Given the description of an element on the screen output the (x, y) to click on. 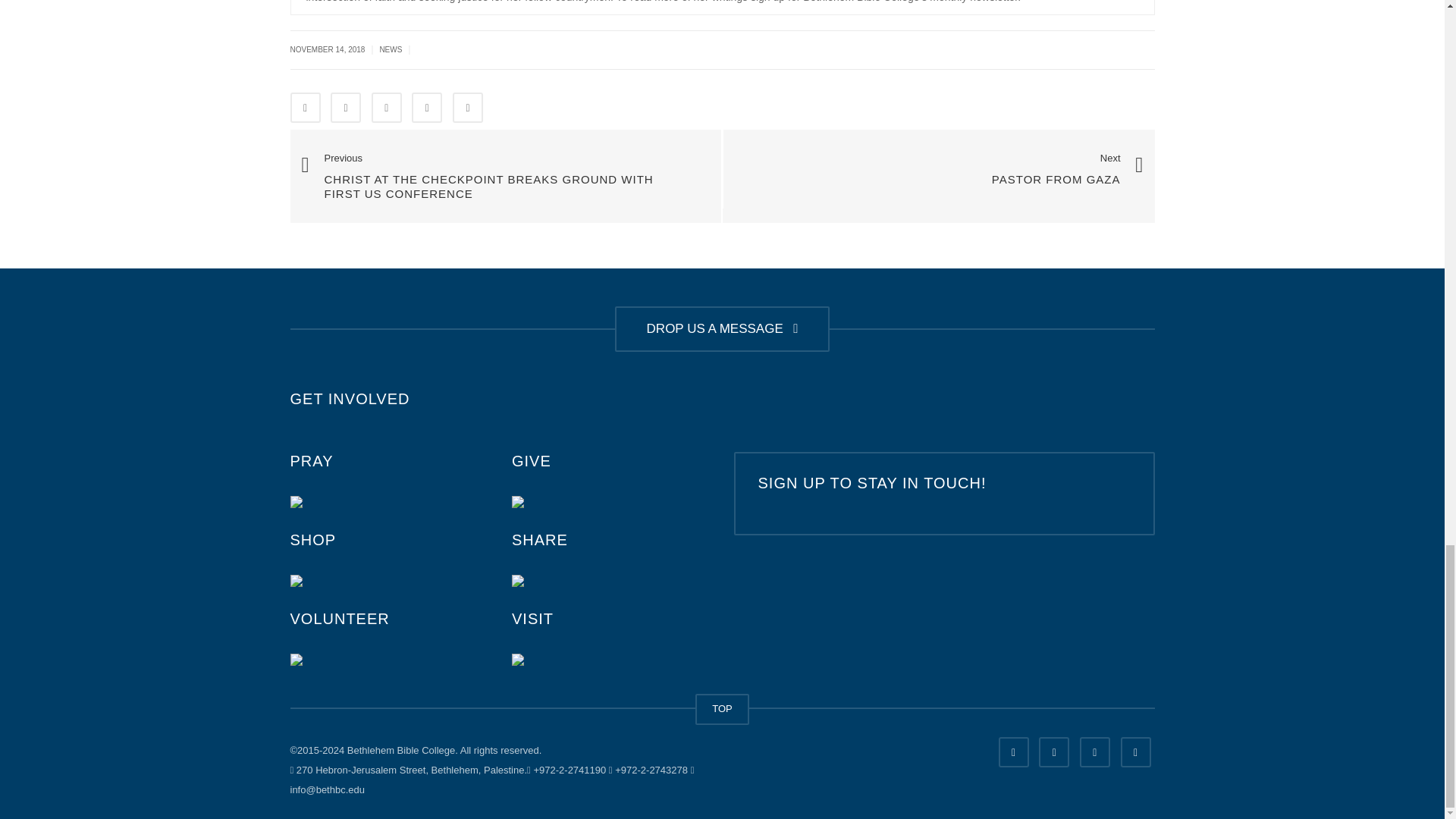
Share on Facebook (304, 107)
Share on Twitter (345, 107)
Share on LinkedIn (386, 107)
Share on Google Plus (427, 107)
